Given the description of an element on the screen output the (x, y) to click on. 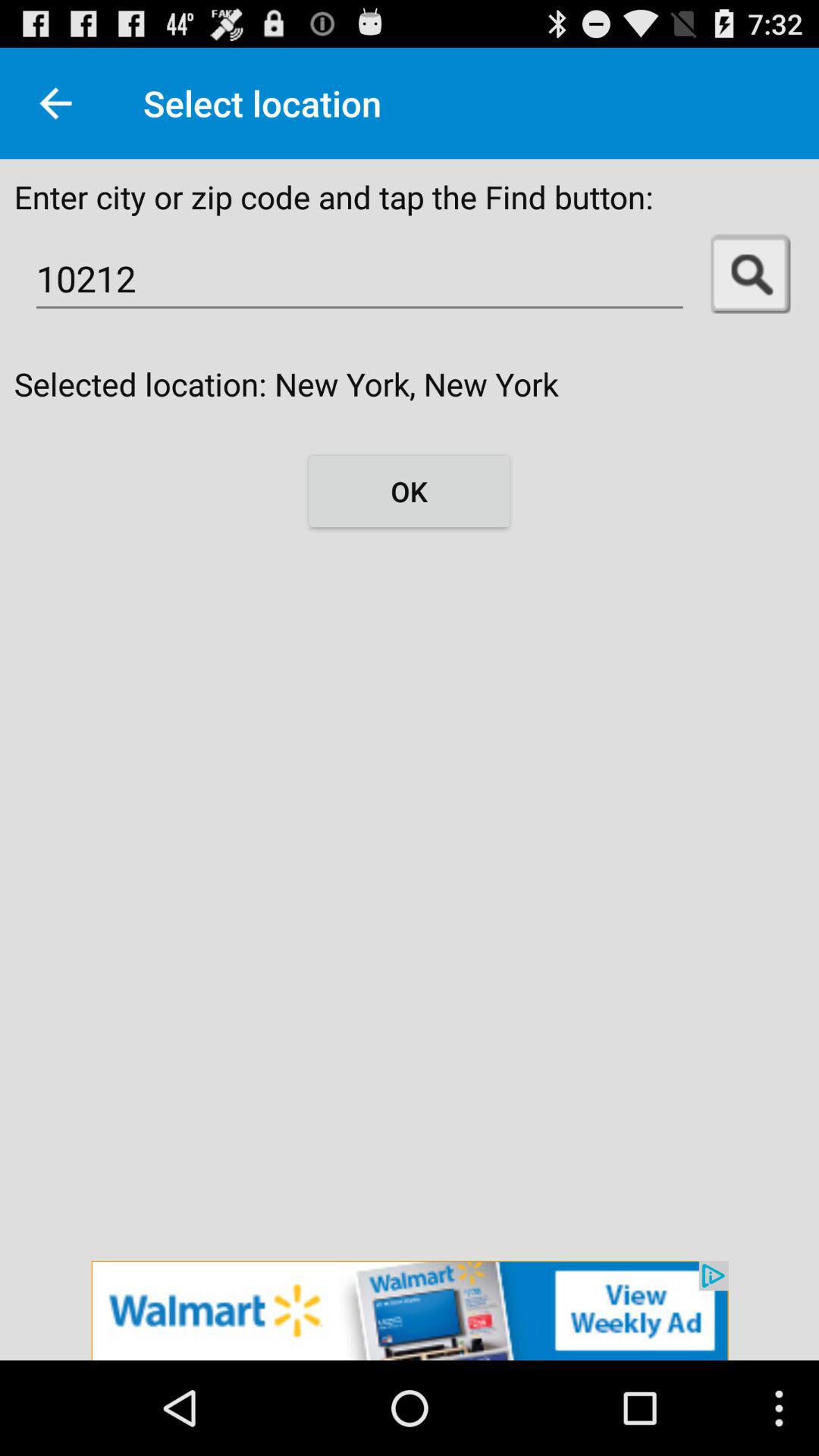
go back (55, 103)
